Given the description of an element on the screen output the (x, y) to click on. 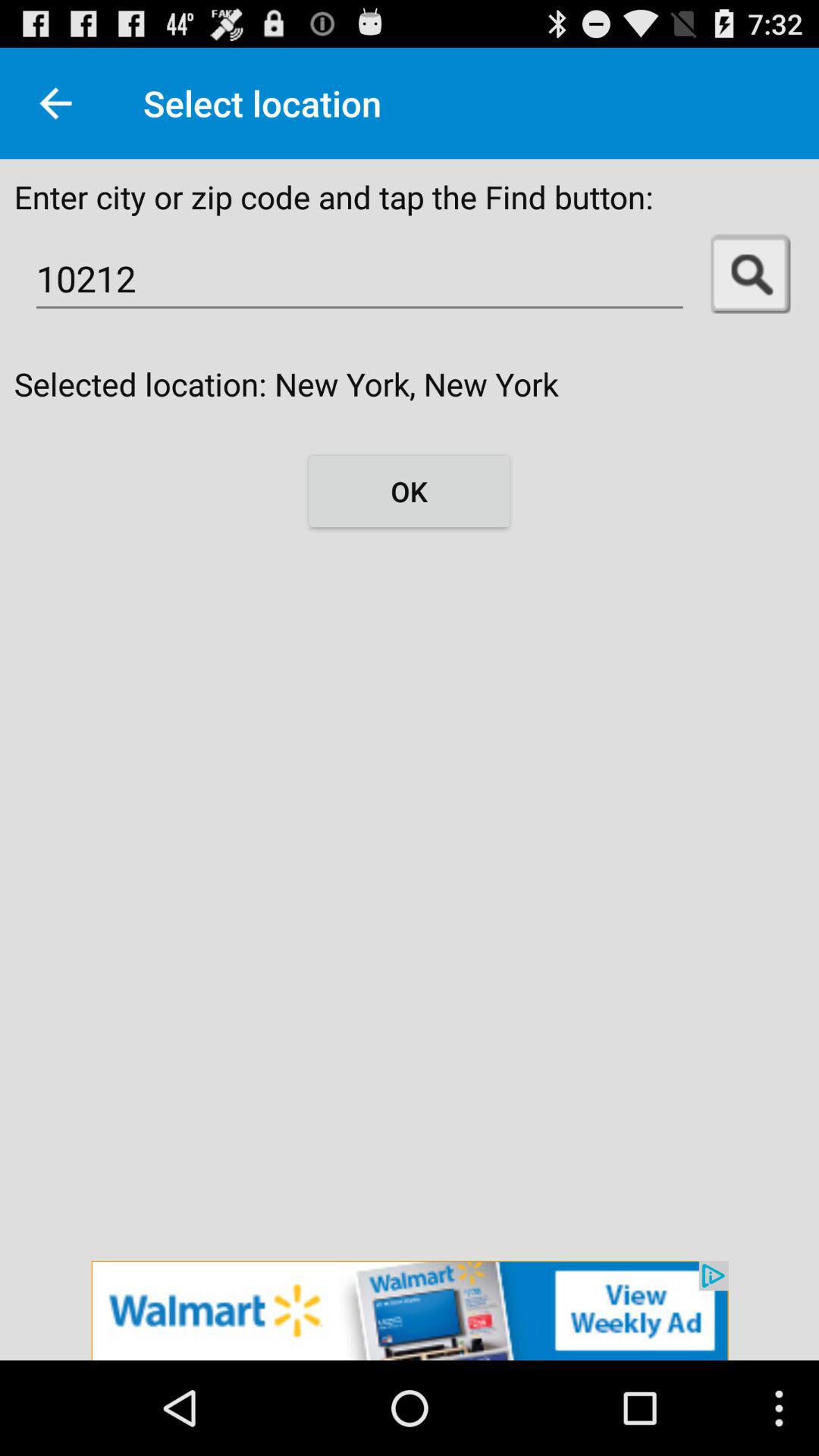
go back (55, 103)
